Given the description of an element on the screen output the (x, y) to click on. 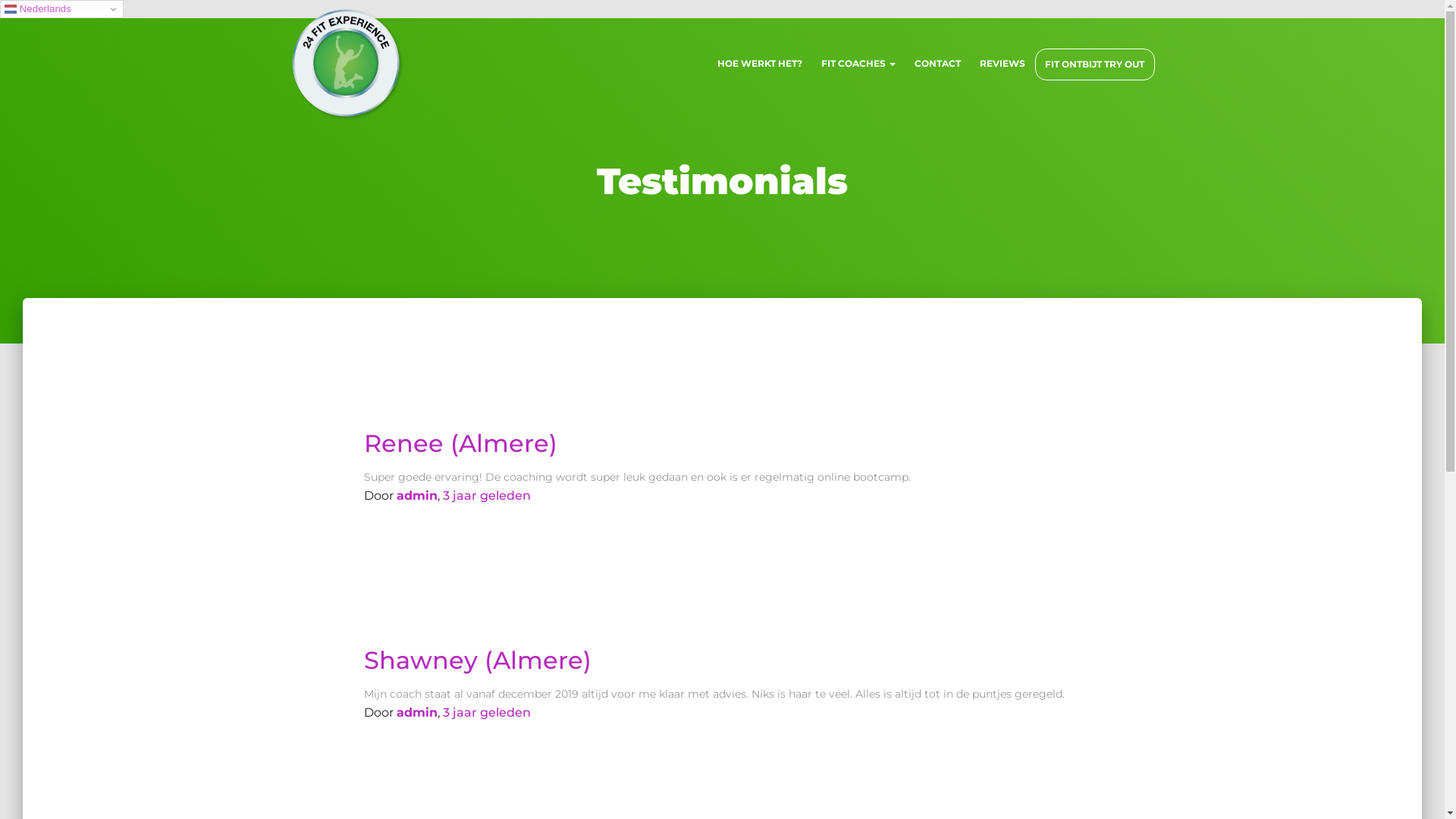
CONTACT Element type: text (937, 63)
Shawney (Almere) Element type: text (477, 659)
Renee (Almere) Element type: text (460, 443)
FIT COACHES Element type: text (857, 63)
3 jaar geleden Element type: text (486, 712)
admin Element type: text (416, 495)
Nederlands Element type: text (61, 9)
24 FIT Experience Element type: hover (347, 64)
3 jaar geleden Element type: text (486, 495)
HOE WERKT HET? Element type: text (760, 63)
FIT ONTBIJT TRY OUT Element type: text (1094, 64)
REVIEWS Element type: text (1002, 63)
admin Element type: text (416, 712)
